Given the description of an element on the screen output the (x, y) to click on. 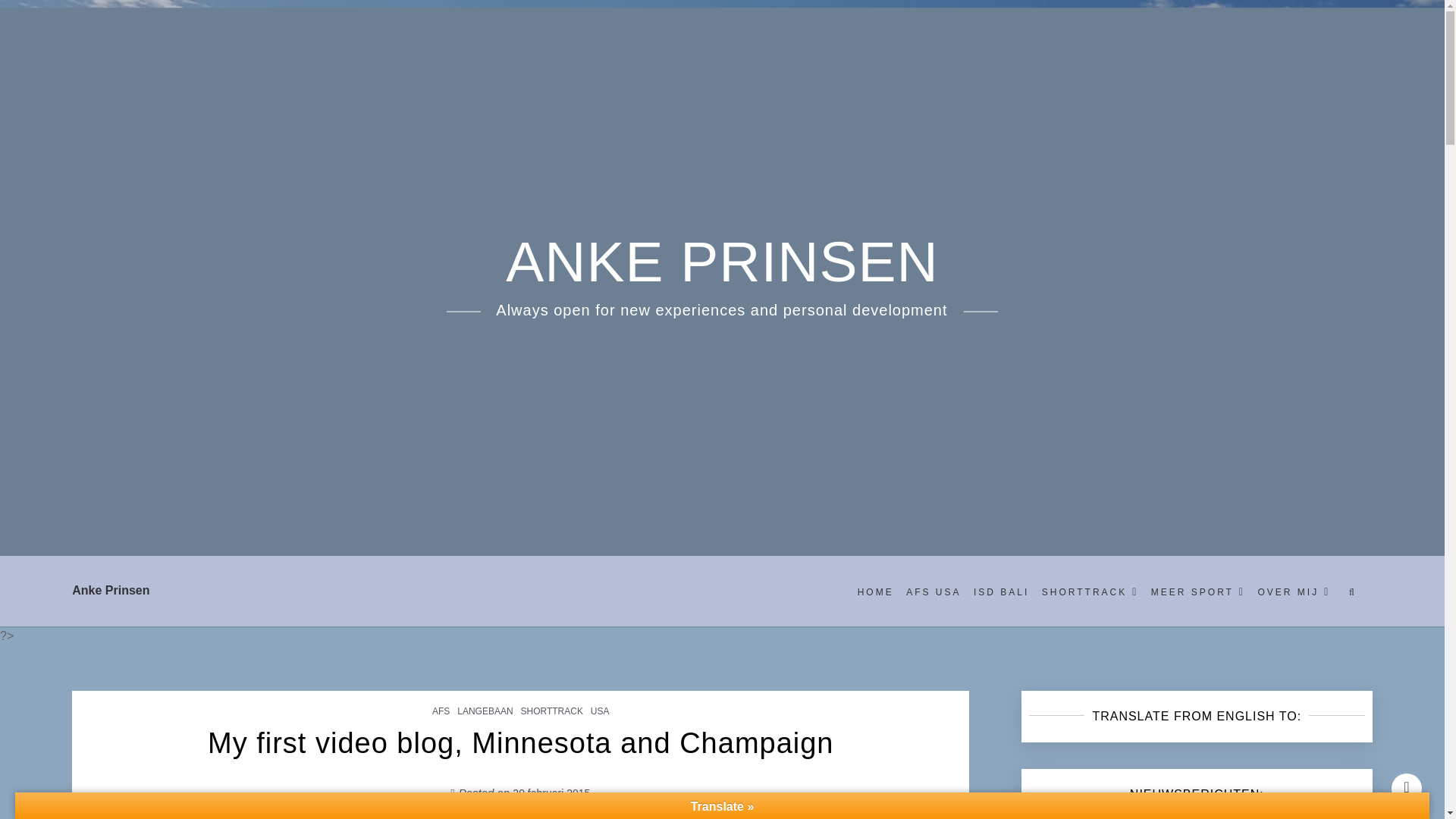
Go to Top (1406, 788)
SHORTTRACK (551, 711)
AFS (440, 711)
Anke Prinsen (110, 590)
HOME (875, 592)
LANGEBAAN (484, 711)
Zoeken (1337, 641)
AFS USA (933, 592)
USA (599, 711)
SHORTTRACK (1089, 592)
